Given the description of an element on the screen output the (x, y) to click on. 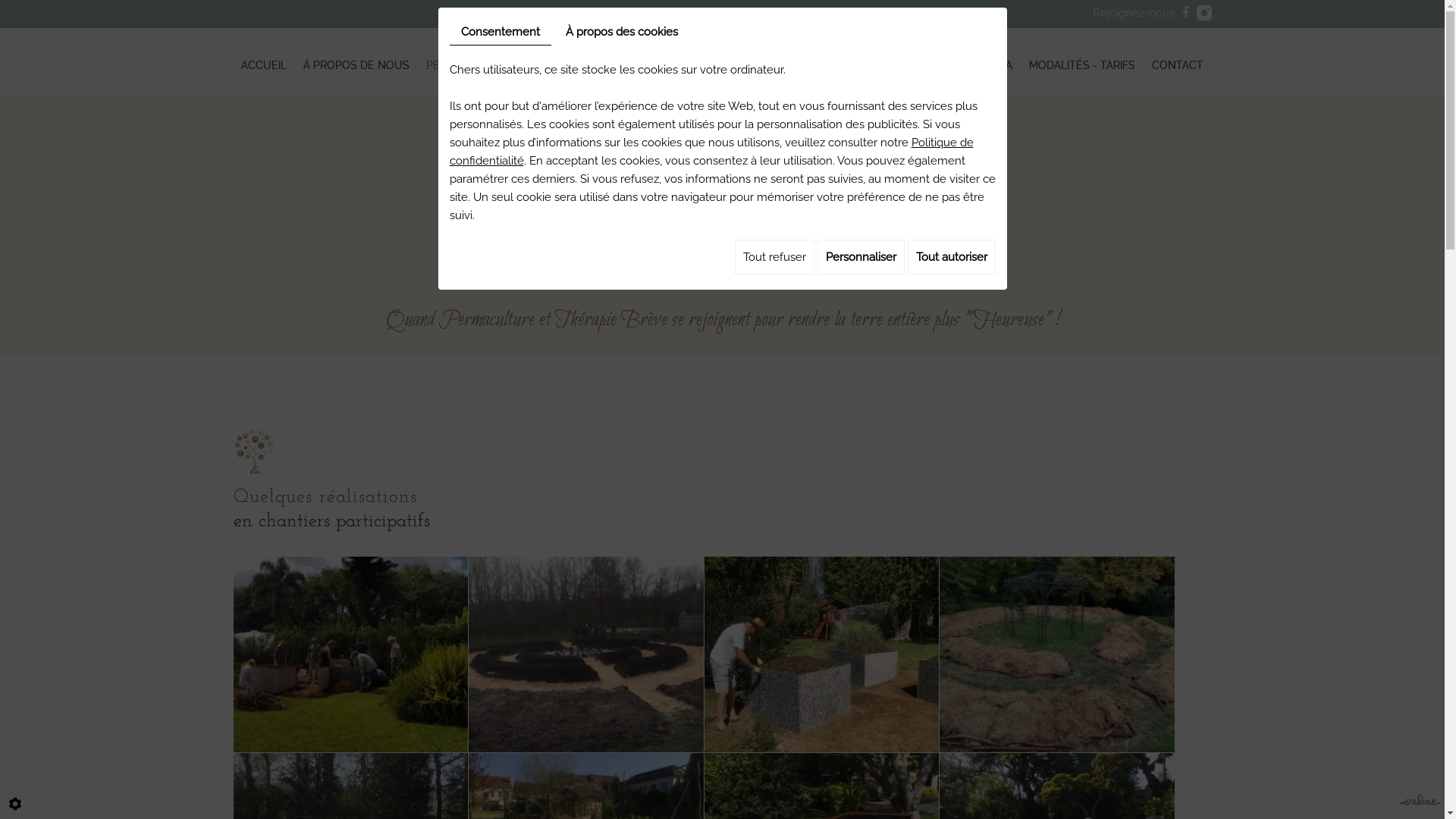
CONTACT Element type: text (1177, 62)
Consentement Element type: text (499, 31)
PERMACULTURE Element type: text (468, 62)
Personnaliser Element type: text (860, 256)
ACCUEIL Element type: text (264, 62)
GALERIE PHOTOS Element type: text (860, 62)
BLOG Element type: text (937, 62)
NOTRE JARDIN Element type: text (760, 62)
Tout autoriser Element type: text (950, 256)
Tout refuser Element type: text (773, 256)
AGENDA Element type: text (990, 62)
